Given the description of an element on the screen output the (x, y) to click on. 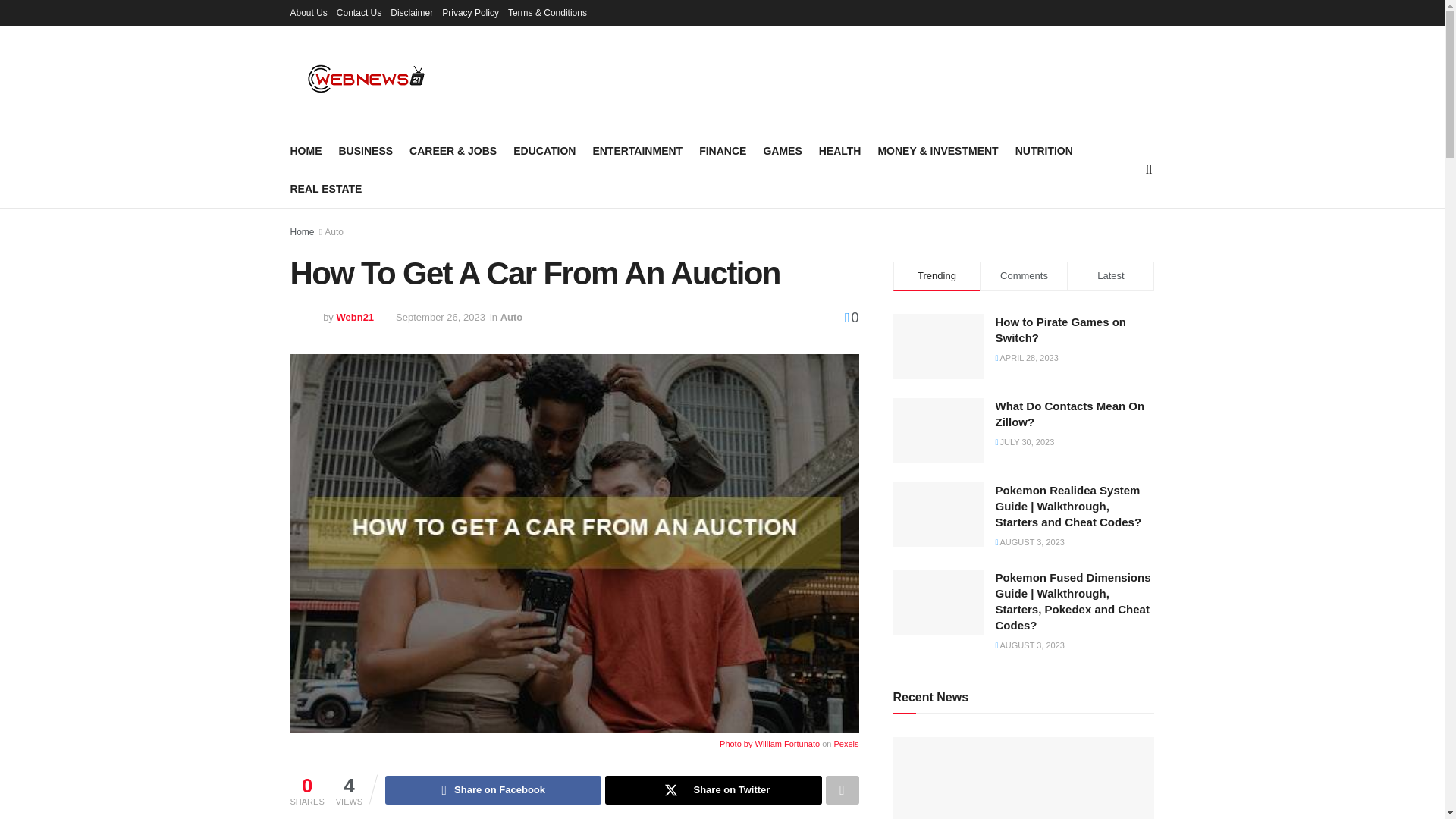
Home (301, 231)
Privacy Policy (470, 12)
HOME (305, 150)
ENTERTAINMENT (637, 150)
Webn21 (355, 317)
September 26, 2023 (440, 317)
Disclaimer (411, 12)
FINANCE (721, 150)
About Us (307, 12)
HEALTH (839, 150)
